Given the description of an element on the screen output the (x, y) to click on. 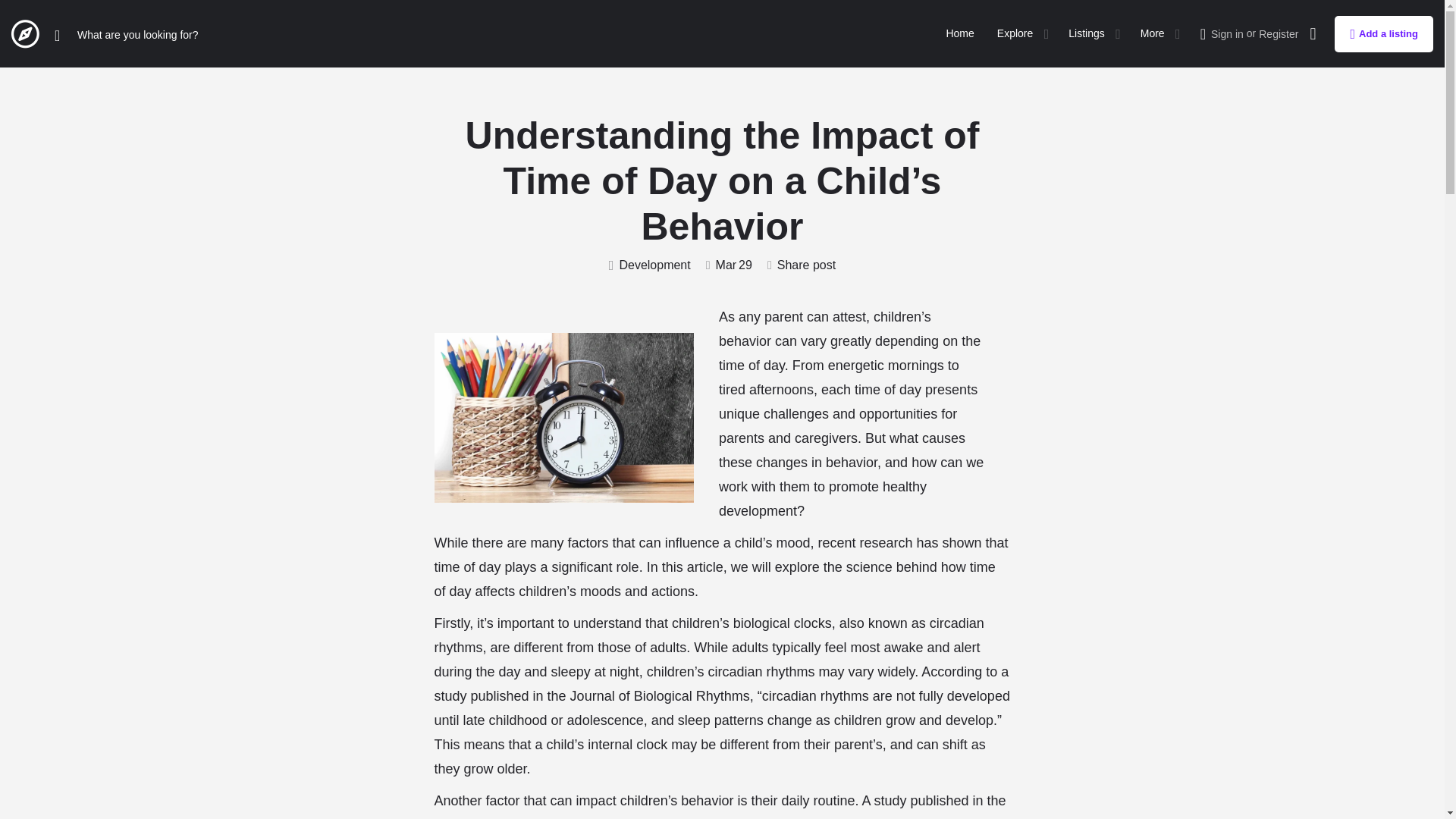
Listings (1085, 32)
Development (649, 265)
Register (1278, 33)
Sign in (1227, 33)
Share post (801, 265)
Explore (1014, 32)
More (1152, 32)
Add a listing (1383, 33)
Home (959, 32)
